Given the description of an element on the screen output the (x, y) to click on. 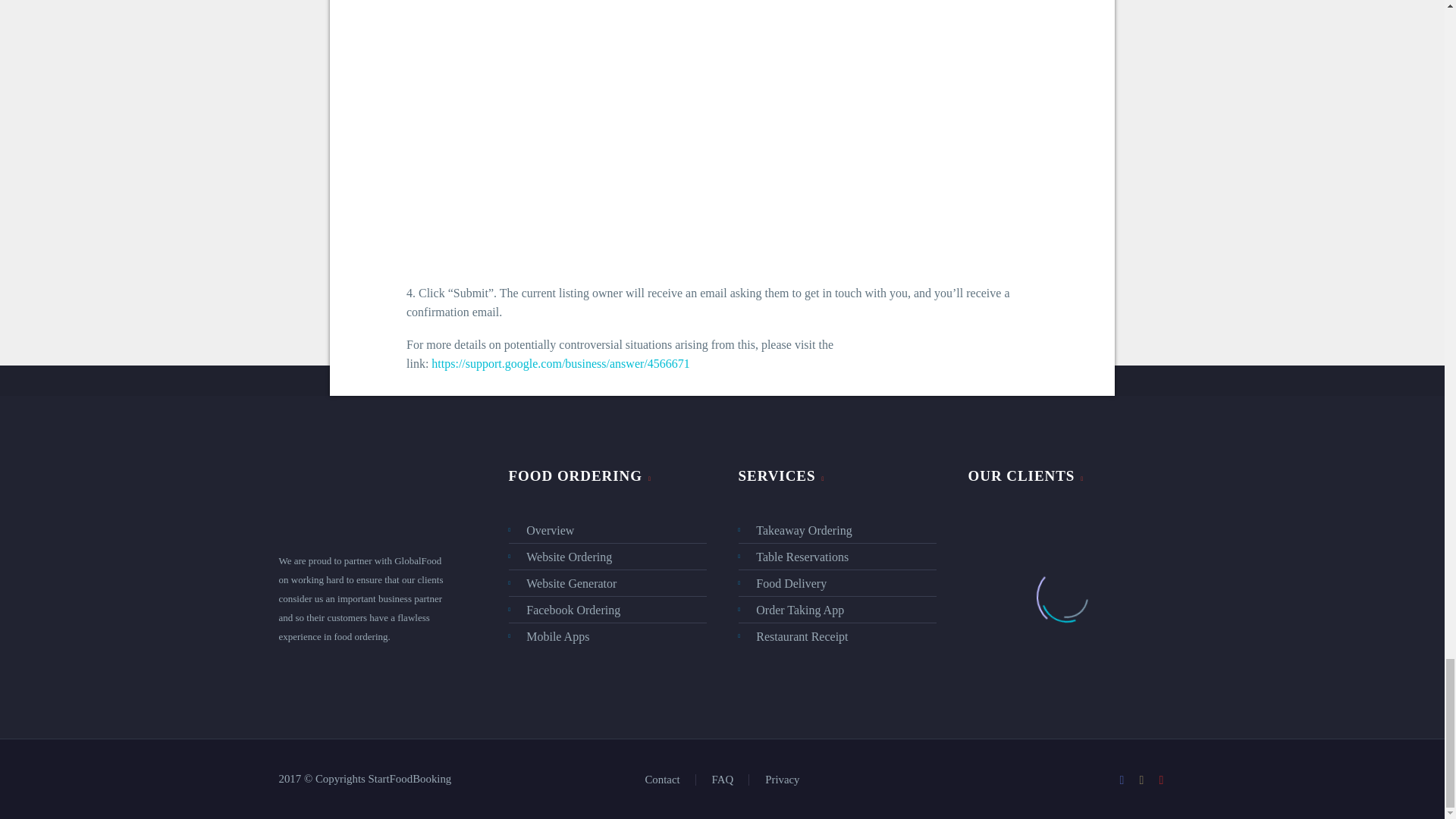
Website Generator (607, 583)
Website Ordering (607, 556)
Takeaway Ordering (837, 529)
Facebook Ordering (607, 609)
Facebook (1122, 779)
Overview (607, 529)
Instagram (1141, 779)
Table Reservations (837, 556)
YouTube (1161, 779)
Mobile Apps (607, 636)
